Given the description of an element on the screen output the (x, y) to click on. 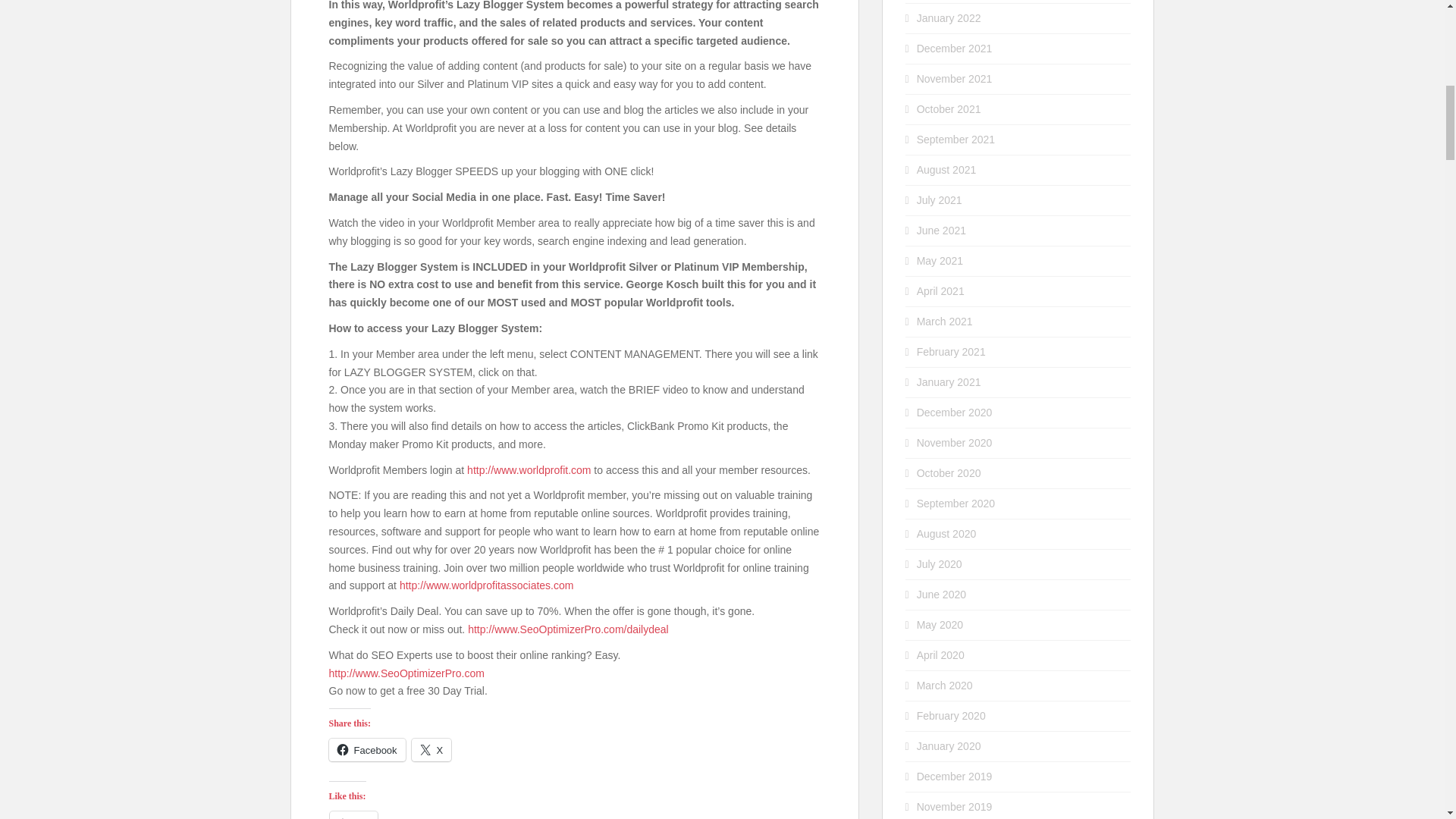
Facebook (367, 749)
X (431, 749)
Click to share on X (431, 749)
Click to share on Facebook (367, 749)
Like or Reblog (575, 814)
